Given the description of an element on the screen output the (x, y) to click on. 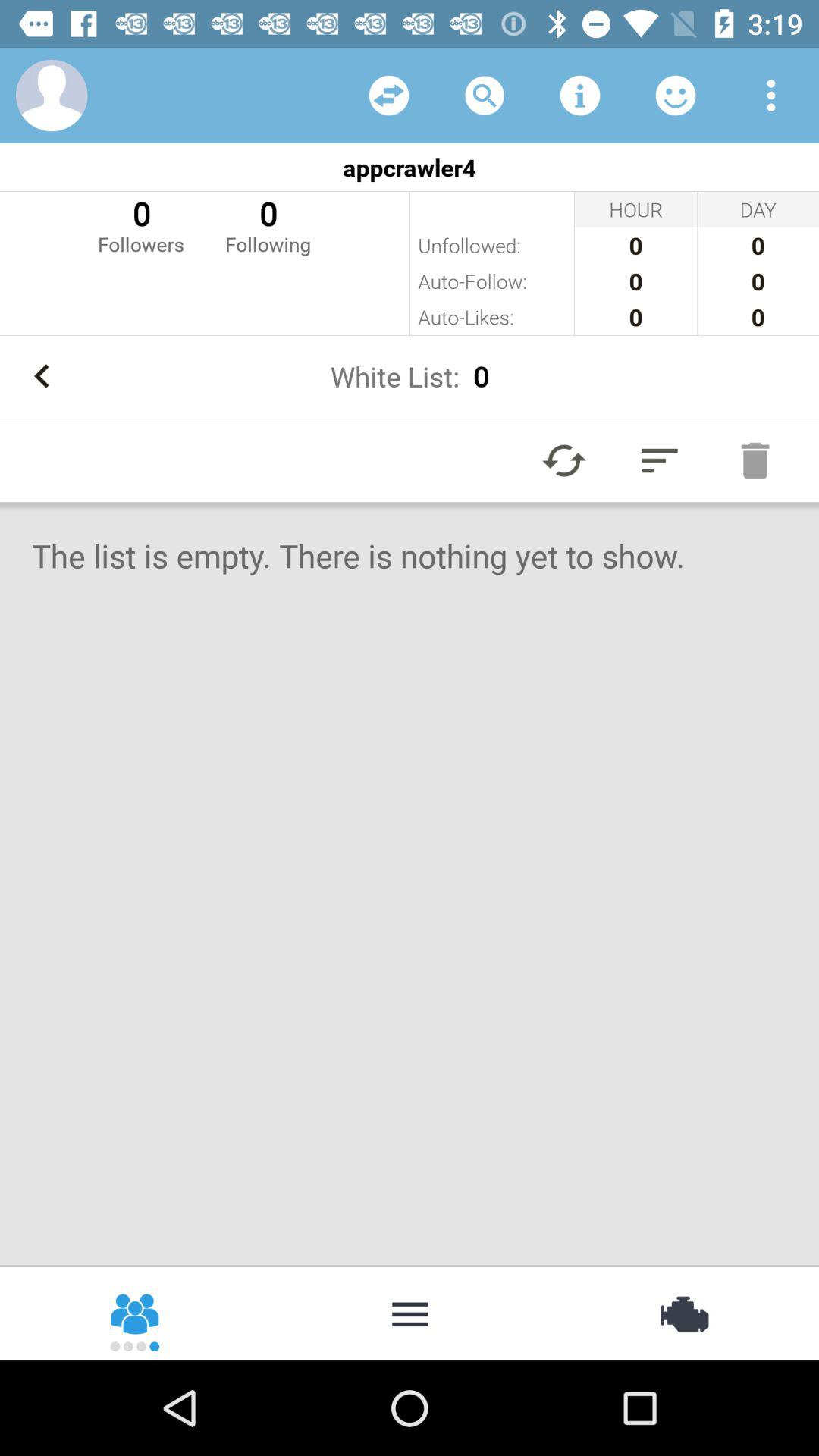
select item at the bottom right corner (683, 1312)
